Given the description of an element on the screen output the (x, y) to click on. 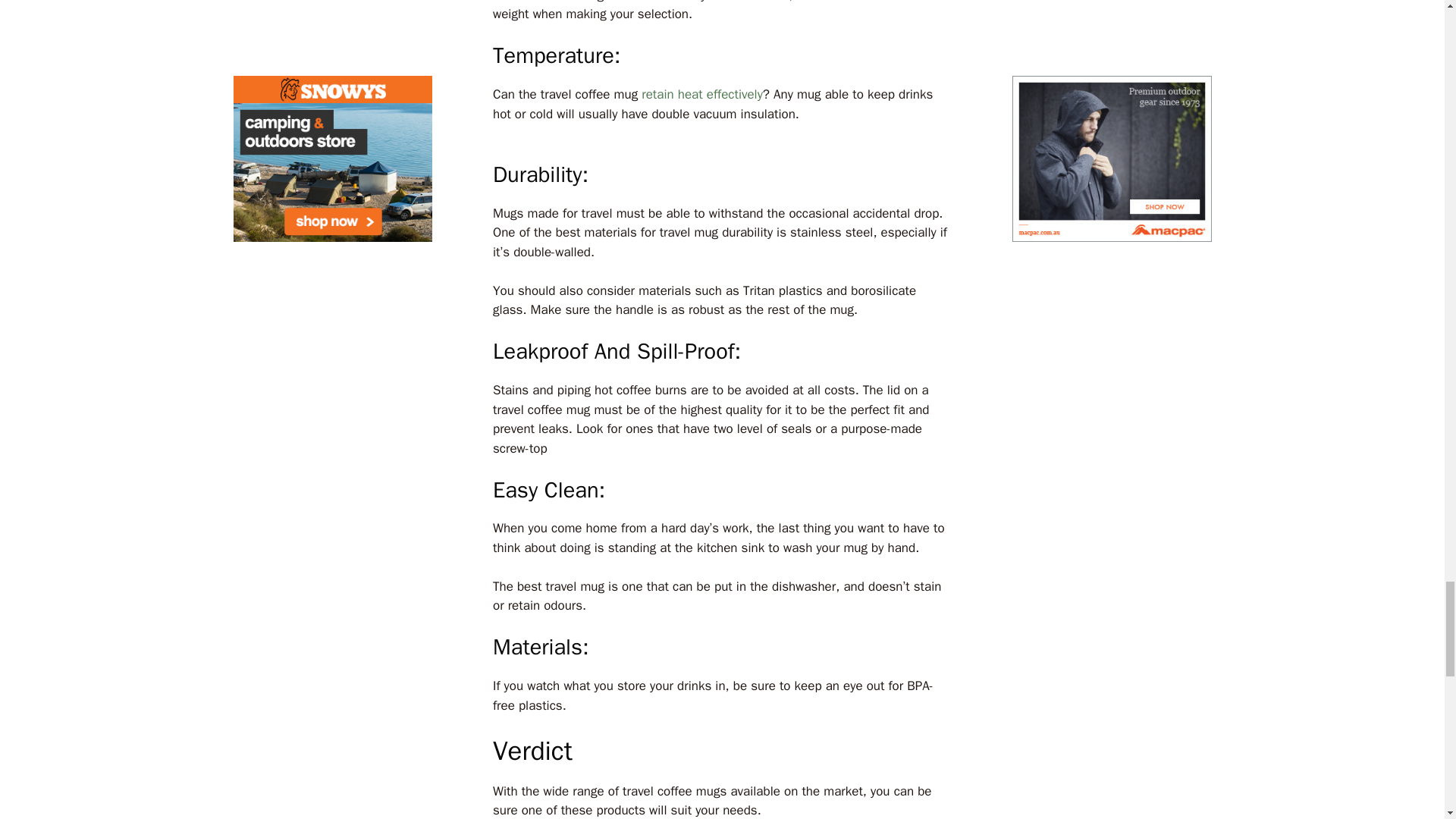
retain heat effectively (702, 94)
